Given the description of an element on the screen output the (x, y) to click on. 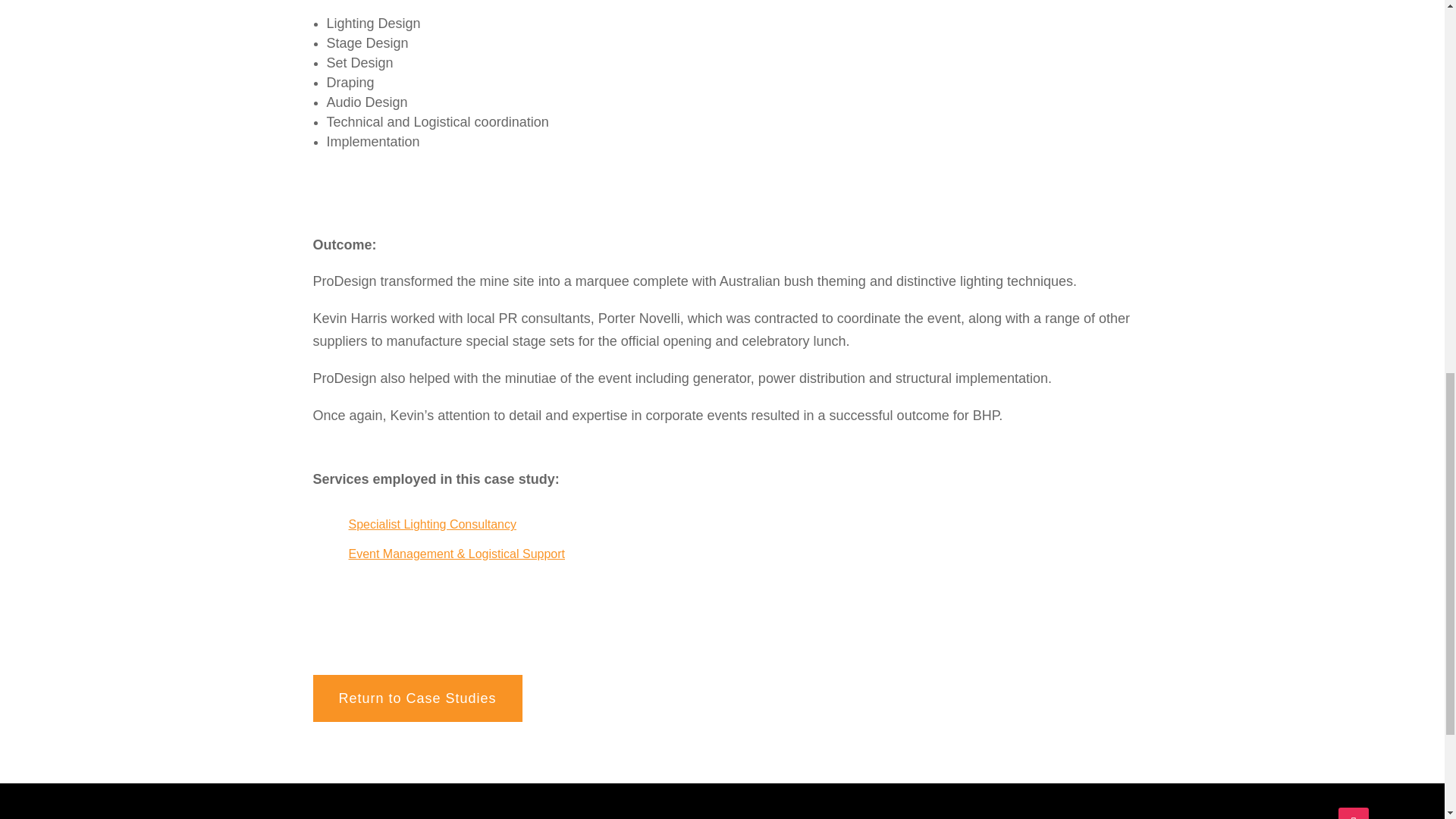
Follow on Instagram (1353, 813)
Return to Case Studies (417, 698)
